Given the description of an element on the screen output the (x, y) to click on. 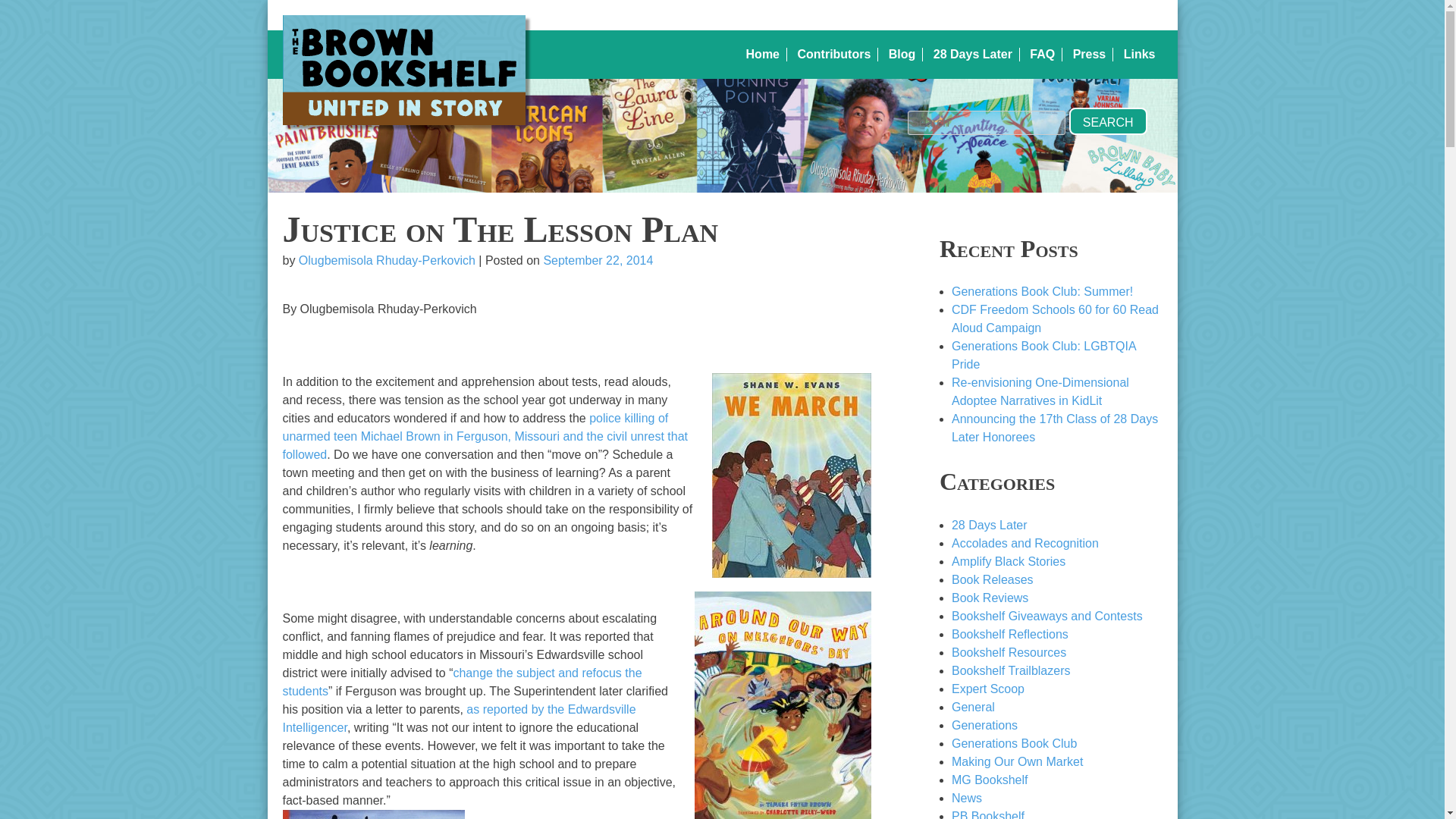
change the subject and refocus the students (462, 681)
Press (1089, 54)
Contributors (833, 54)
Links (1140, 54)
Search (1107, 121)
September 22, 2014 (597, 259)
as reported by the Edwardsville Intelligencer (458, 717)
Blog (901, 54)
28 Days Later (972, 54)
FAQ (1041, 54)
Search (1107, 121)
Olugbemisola Rhuday-Perkovich (387, 259)
Search (1107, 121)
Home (761, 54)
